Given the description of an element on the screen output the (x, y) to click on. 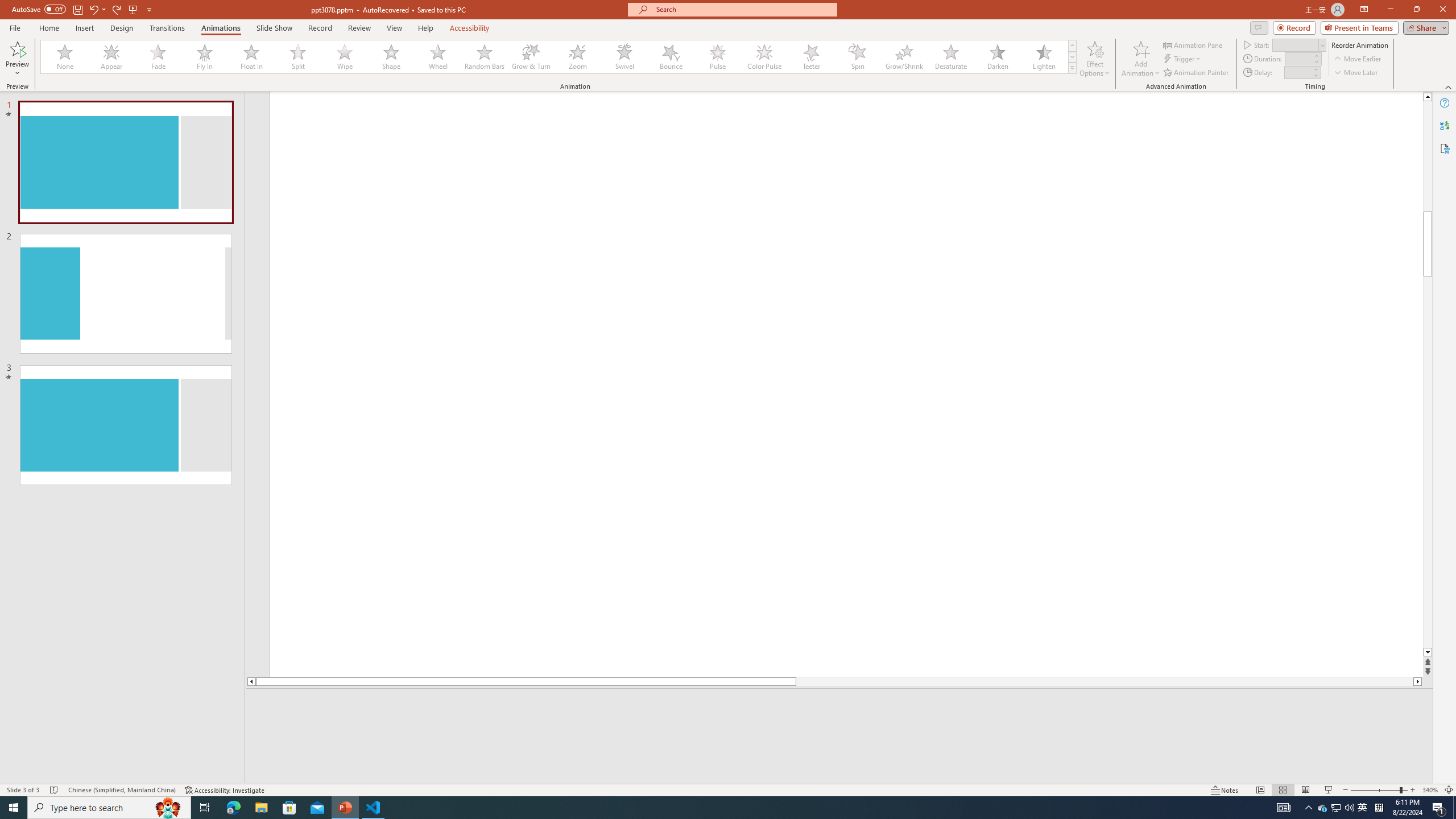
Color Pulse (764, 56)
Wipe (344, 56)
Animation Delay (1297, 72)
AutomationID: AnimationGallery (558, 56)
Grow & Turn (531, 56)
Animation Styles (1071, 67)
